Given the description of an element on the screen output the (x, y) to click on. 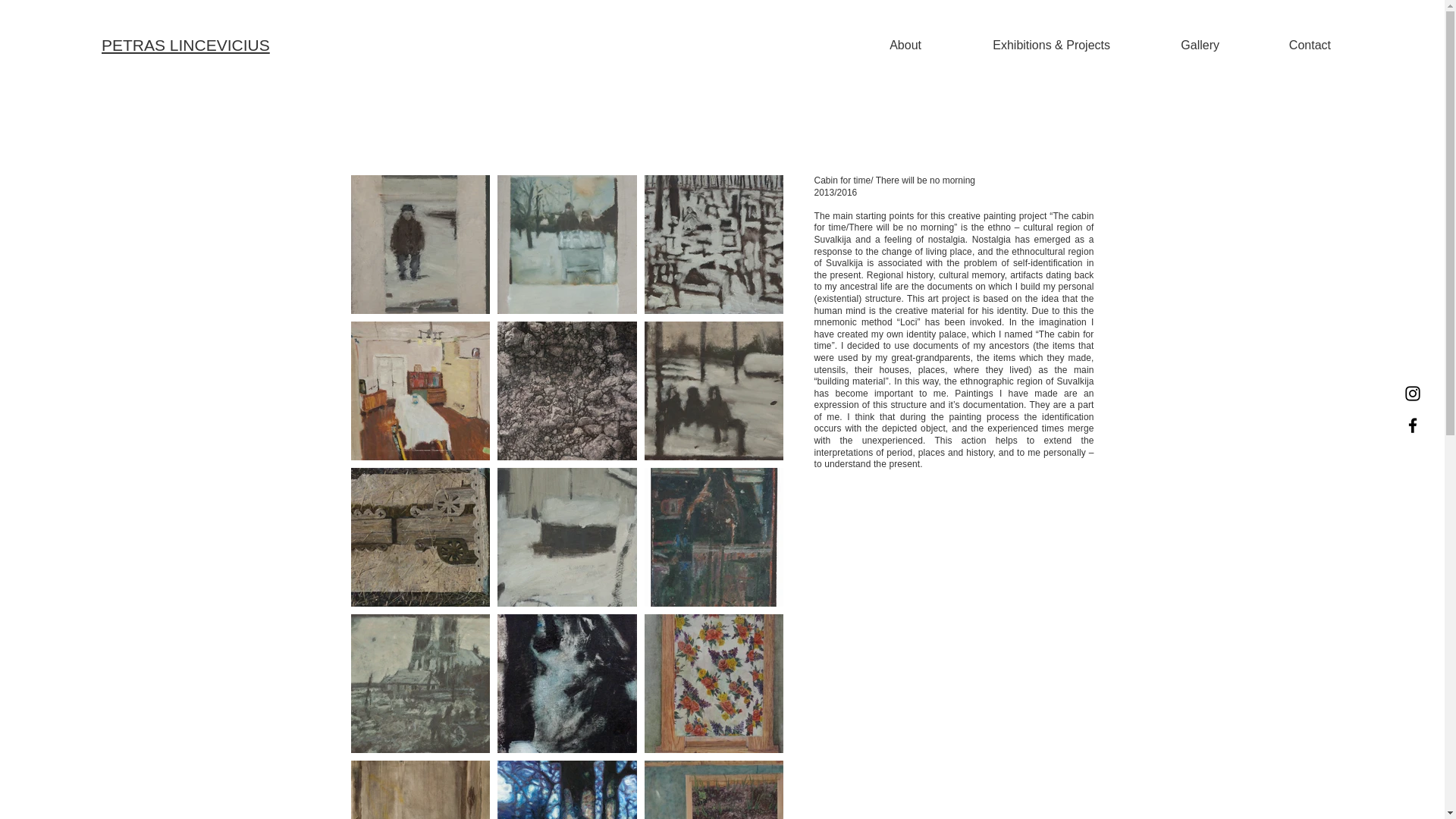
PETRAS LINCEVICIUS (185, 45)
Contact (1286, 45)
